Given the description of an element on the screen output the (x, y) to click on. 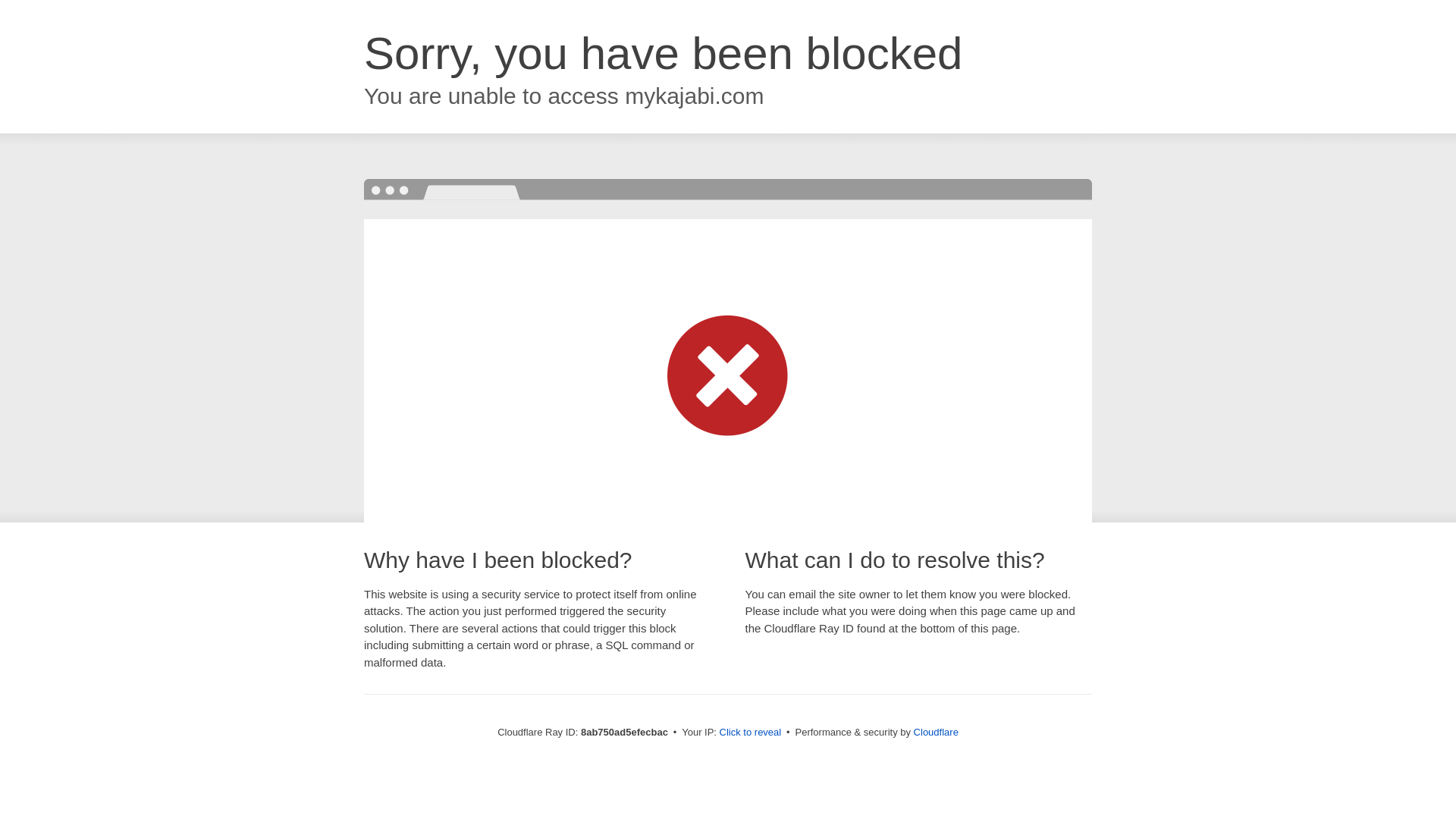
Cloudflare (936, 731)
Click to reveal (750, 732)
